Given the description of an element on the screen output the (x, y) to click on. 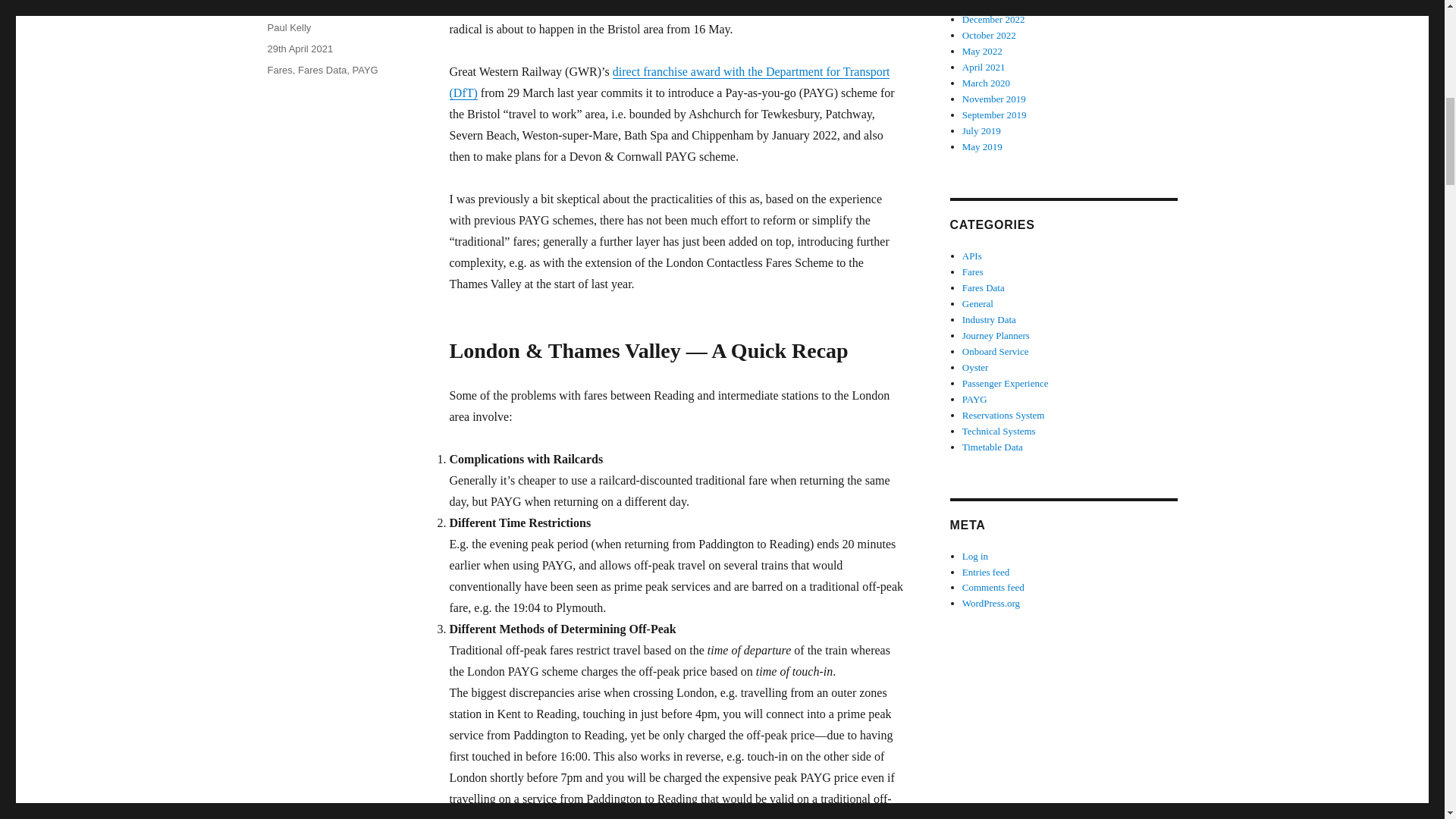
December 2022 (993, 19)
Fares Data (322, 70)
Fares (279, 70)
PAYG (365, 70)
February 2023 (991, 4)
Paul Kelly (288, 27)
29th April 2021 (299, 48)
